Given the description of an element on the screen output the (x, y) to click on. 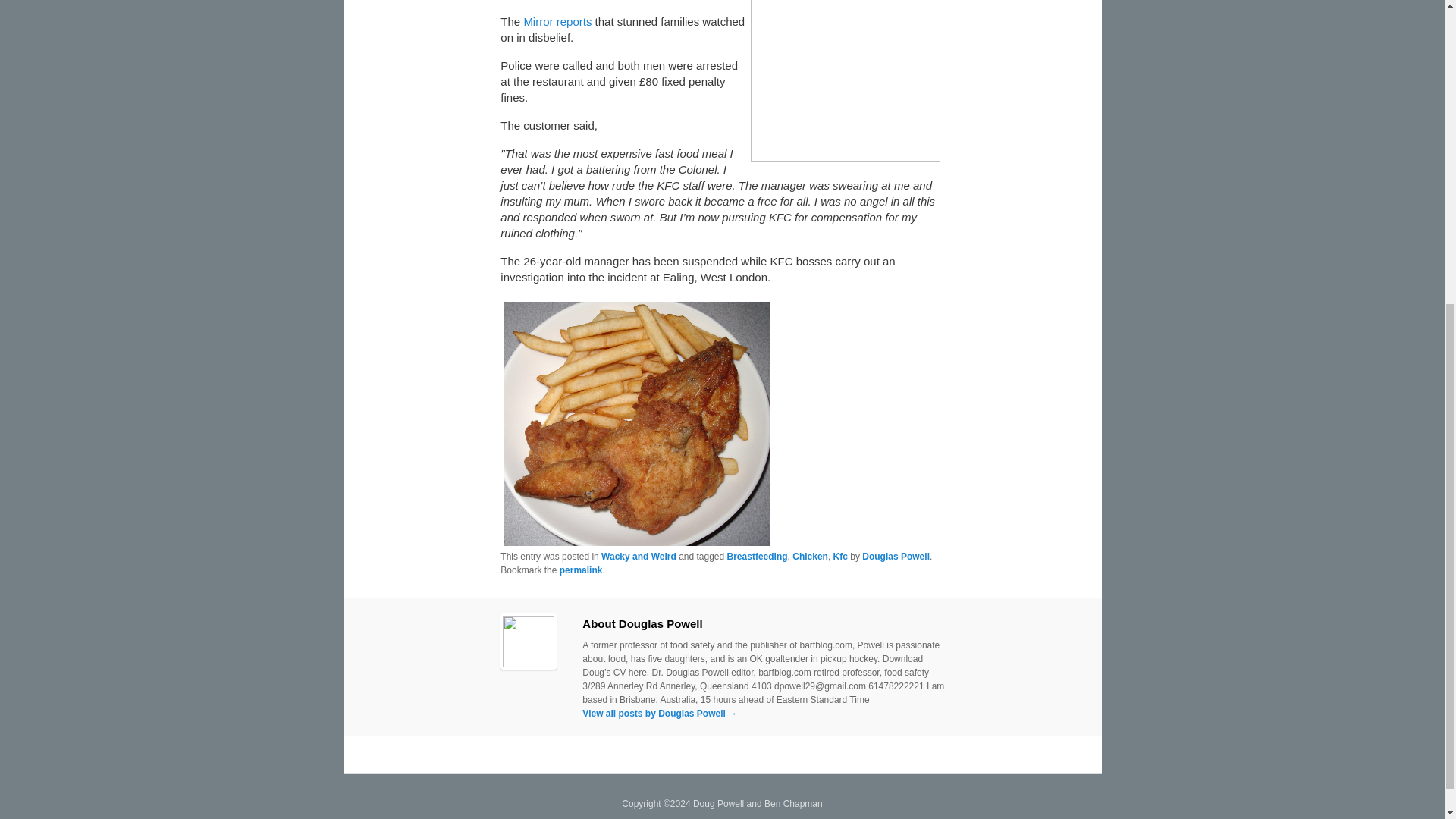
Wacky and Weird (639, 556)
Breastfeeding (756, 556)
Mirror reports (556, 21)
